Given the description of an element on the screen output the (x, y) to click on. 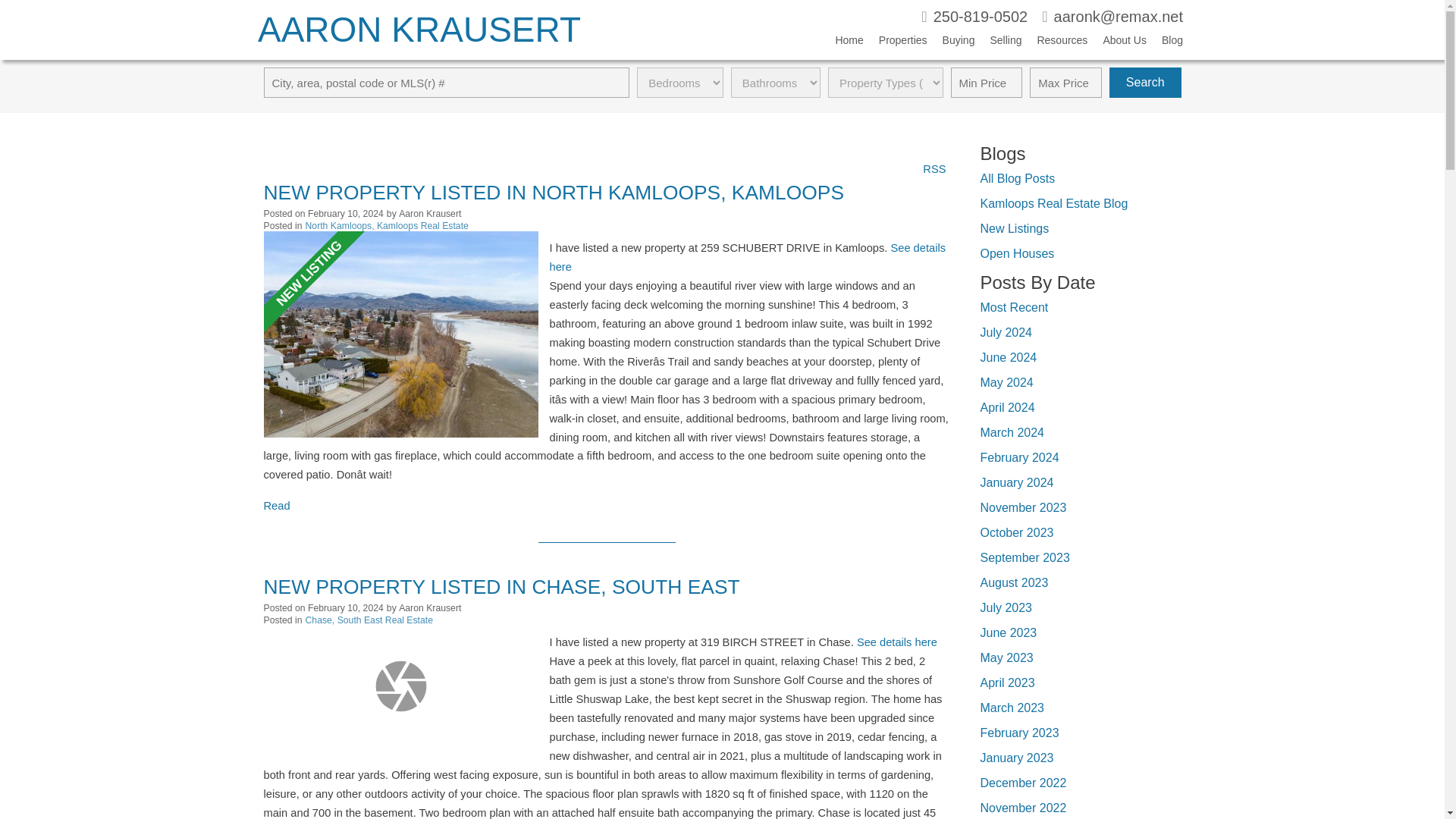
See details here (897, 642)
Search (1144, 82)
North Kamloops, Kamloops Real Estate (386, 225)
Read (276, 505)
Resources (1054, 43)
Read full post (400, 333)
Properties (895, 43)
RSS (933, 168)
NEW PROPERTY LISTED IN CHASE, SOUTH EAST (501, 587)
250-819-0502 (974, 18)
Read full post (400, 685)
About Us (1117, 43)
Buying (951, 43)
Chase, South East Real Estate (368, 620)
Home (841, 43)
